Given the description of an element on the screen output the (x, y) to click on. 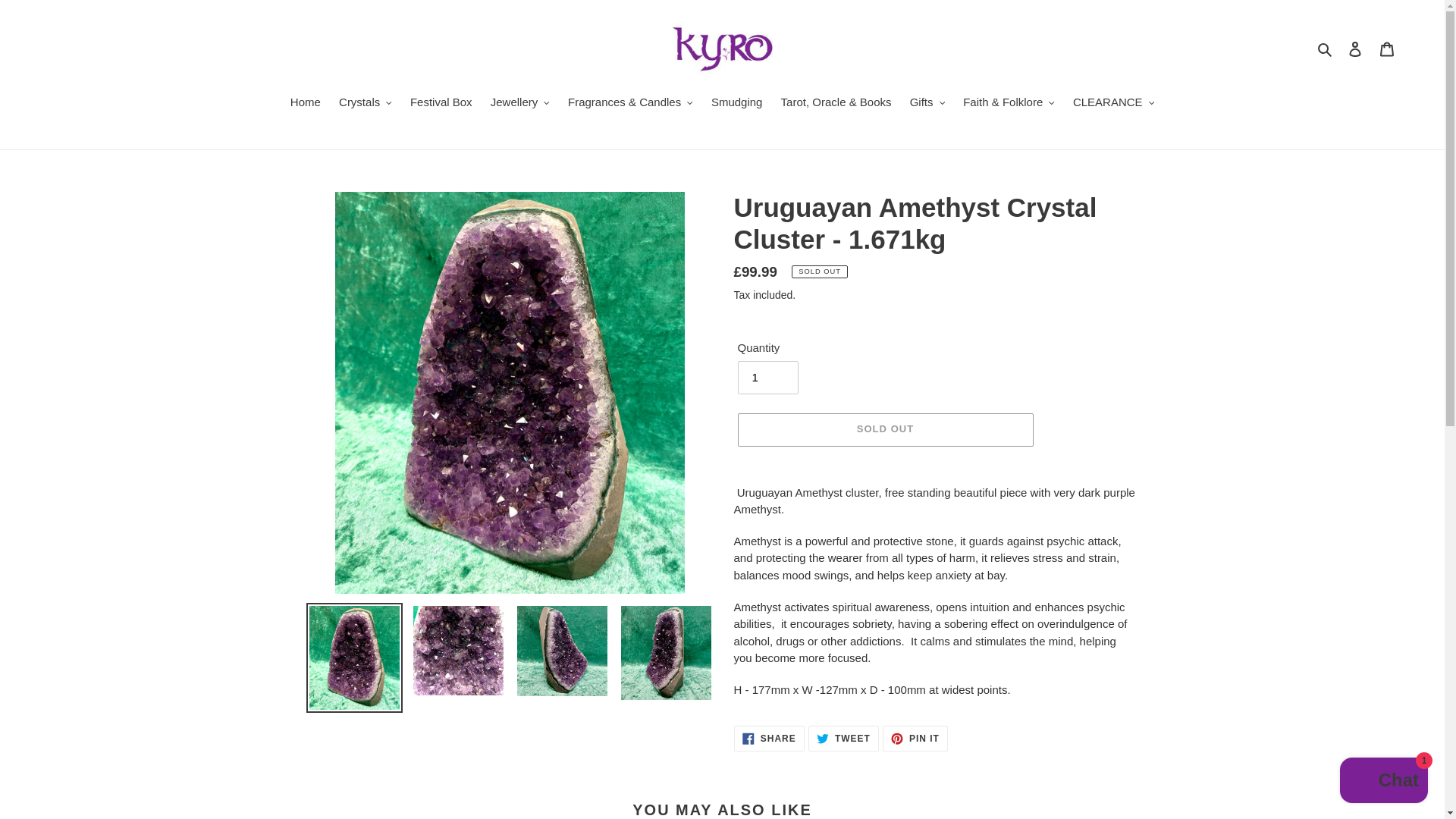
1 (766, 377)
Basket (1387, 48)
Search (1326, 48)
Shopify online store chat (1383, 781)
Log in (1355, 48)
